Given the description of an element on the screen output the (x, y) to click on. 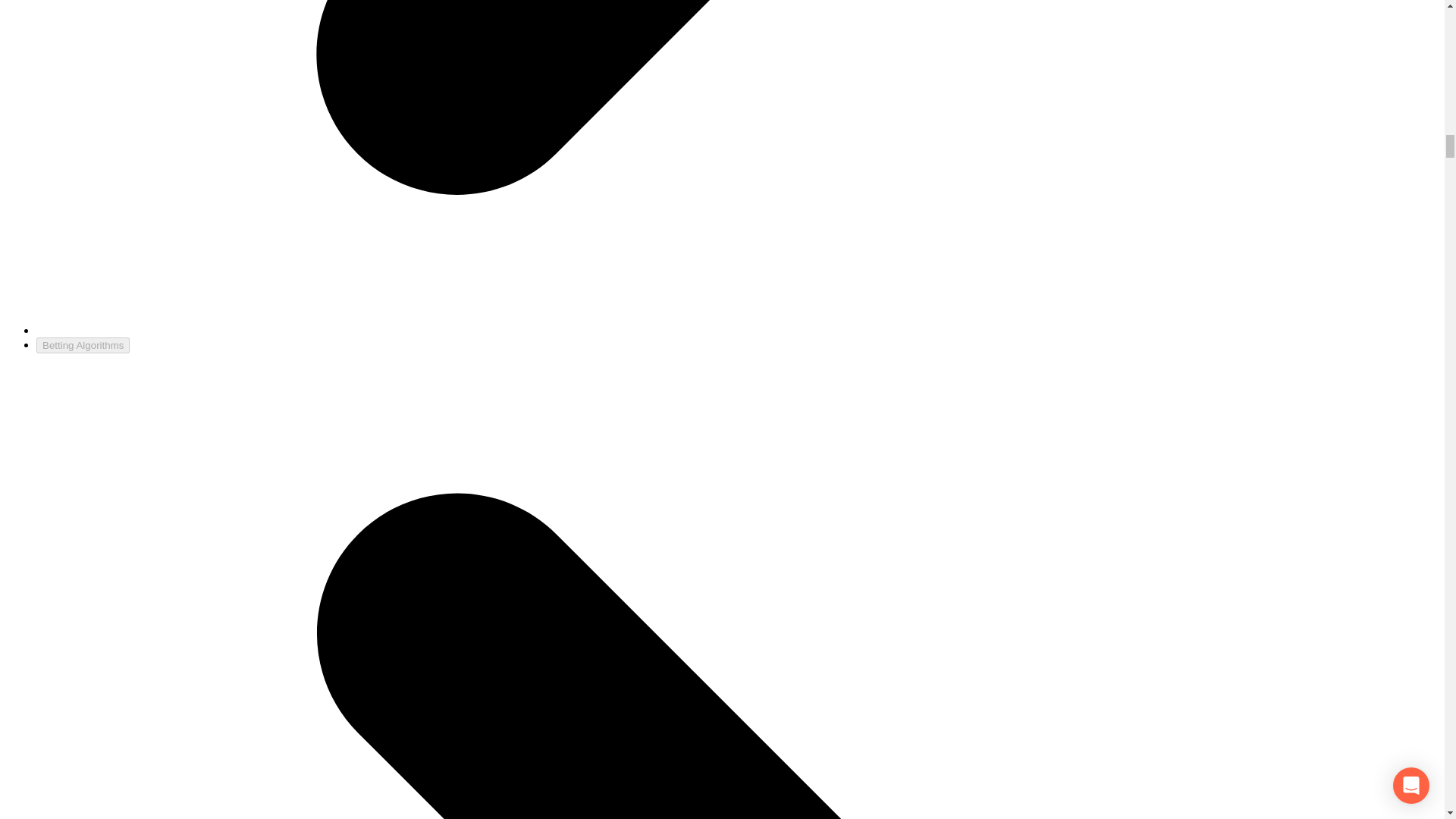
Betting Algorithms (82, 344)
Betting Algorithms (82, 344)
